Given the description of an element on the screen output the (x, y) to click on. 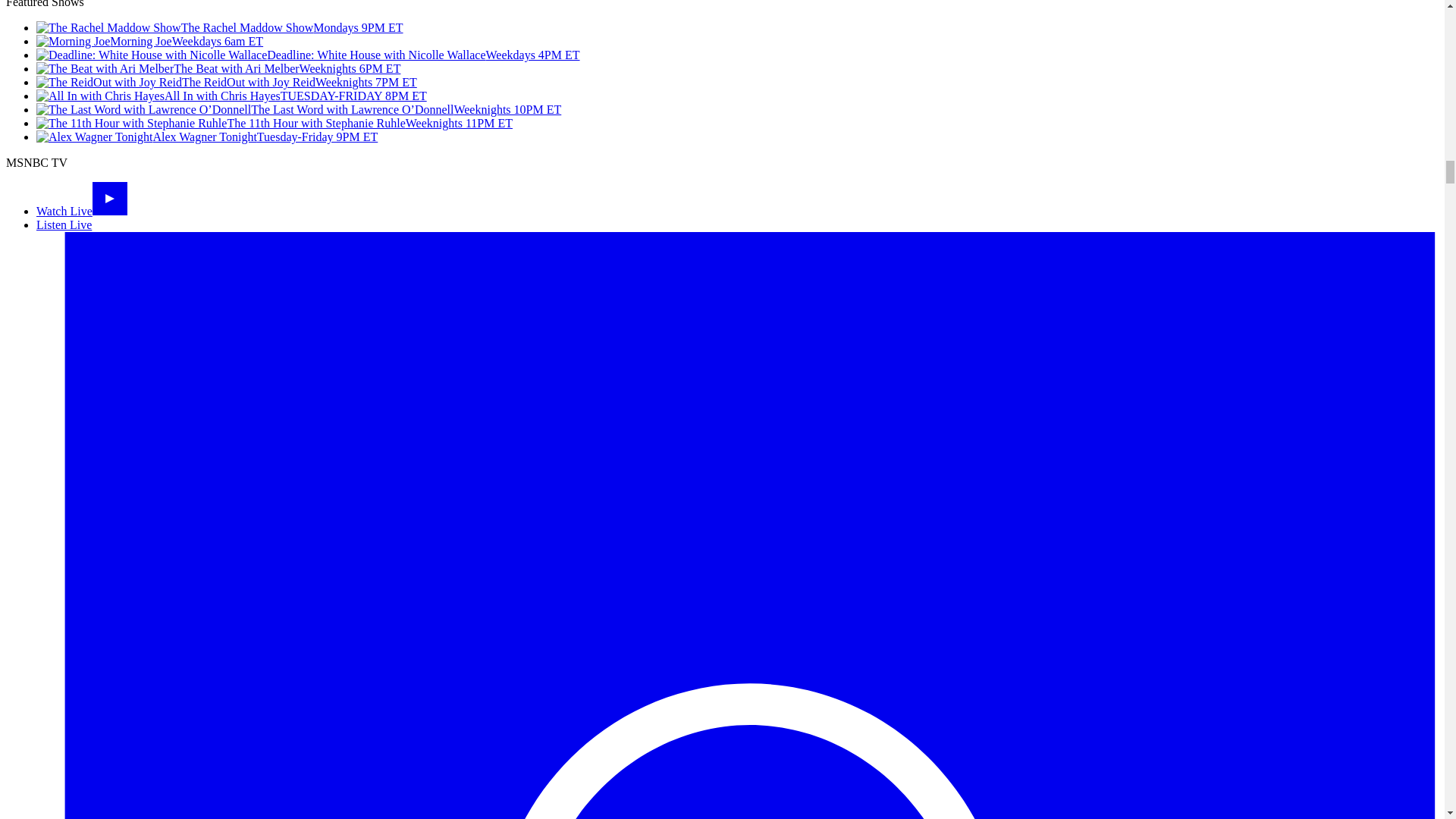
The Beat with Ari MelberWeeknights 6PM ET (218, 68)
The Rachel Maddow ShowMondays 9PM ET (219, 27)
Deadline: White House with Nicolle WallaceWeekdays 4PM ET (307, 54)
The 11th Hour with Stephanie RuhleWeeknights 11PM ET (274, 123)
Morning JoeWeekdays 6am ET (149, 41)
Alex Wagner TonightTuesday-Friday 9PM ET (206, 136)
The ReidOut with Joy ReidWeeknights 7PM ET (226, 82)
All In with Chris HayesTUESDAY-FRIDAY 8PM ET (231, 95)
Watch Live (82, 210)
